Given the description of an element on the screen output the (x, y) to click on. 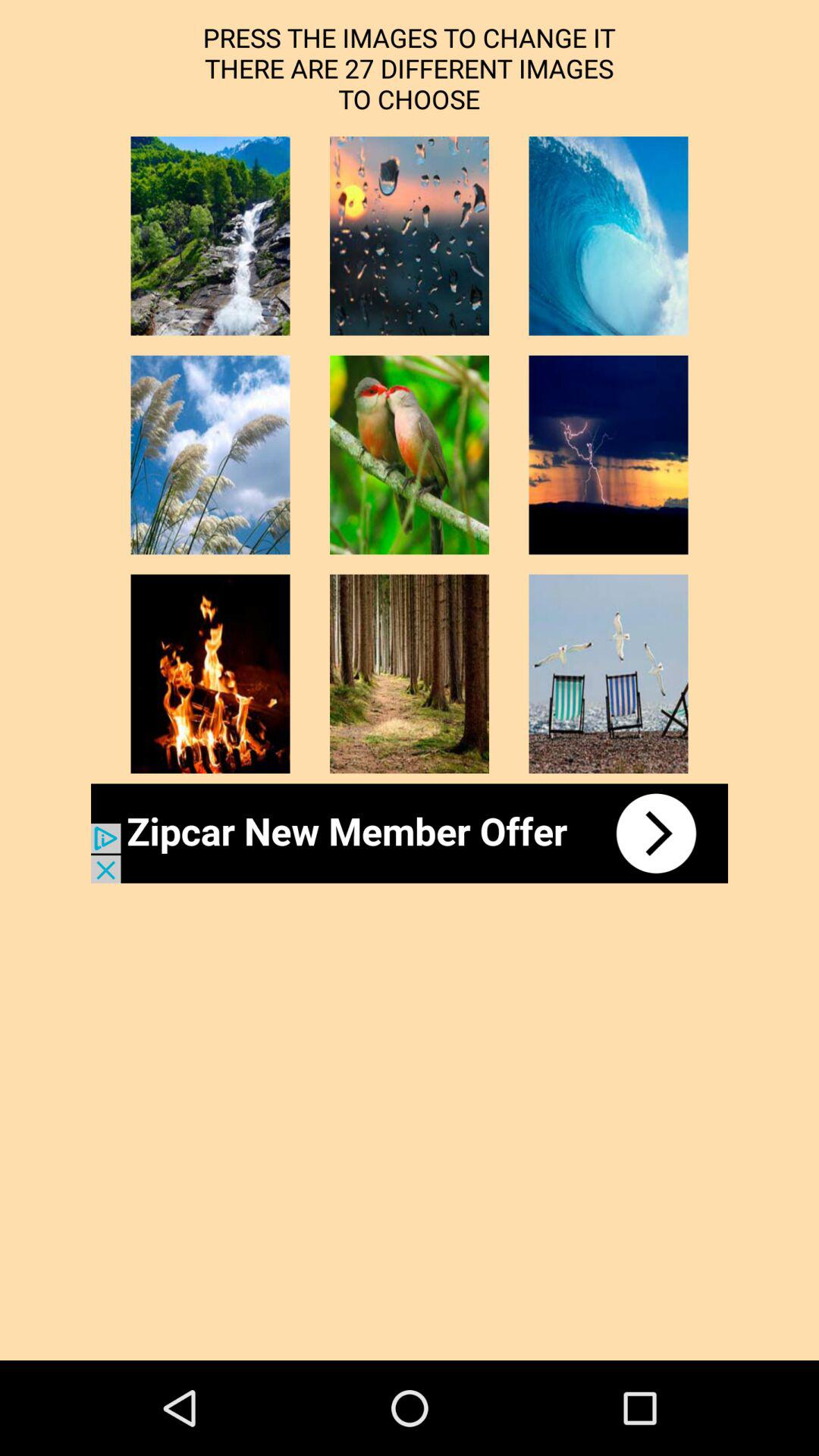
change picture (409, 454)
